Given the description of an element on the screen output the (x, y) to click on. 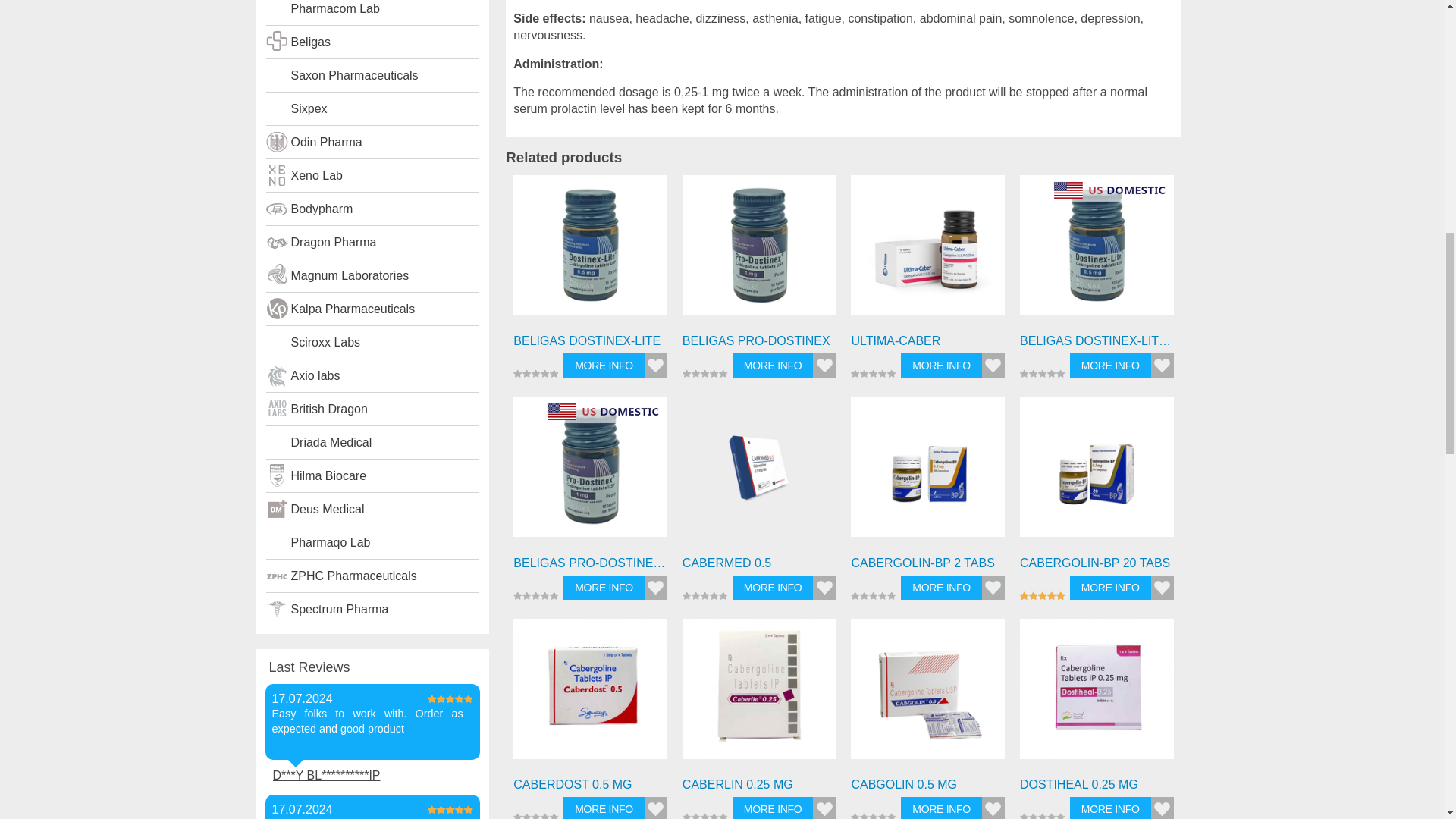
Beligas Pro-Dostinex US (589, 473)
Beligas Dostinex-Lite (589, 245)
CABERMED 0.5 (758, 466)
Ultima-Caber (927, 252)
Beligas Pro-Dostinex US (589, 466)
Beligas Dostinex-Lite US (1096, 245)
CABERMED 0.5 (758, 473)
Beligas Dostinex-Lite (589, 252)
Beligas Dostinex-Lite US (1096, 252)
Beligas Pro-Dostinex (758, 252)
Ultima-Caber (927, 245)
Beligas Pro-Dostinex (758, 245)
